Given the description of an element on the screen output the (x, y) to click on. 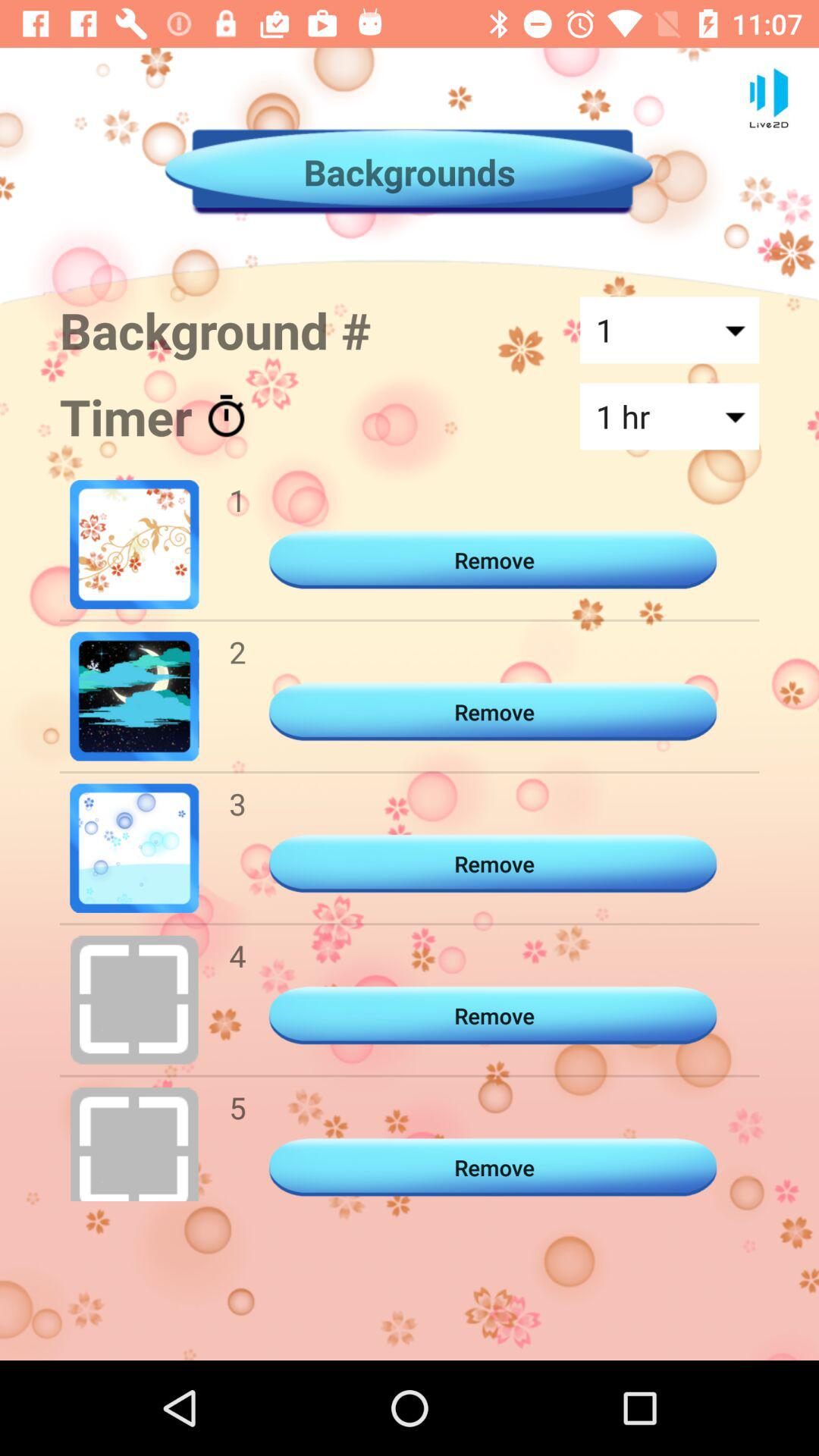
click the item above 4 item (237, 803)
